Given the description of an element on the screen output the (x, y) to click on. 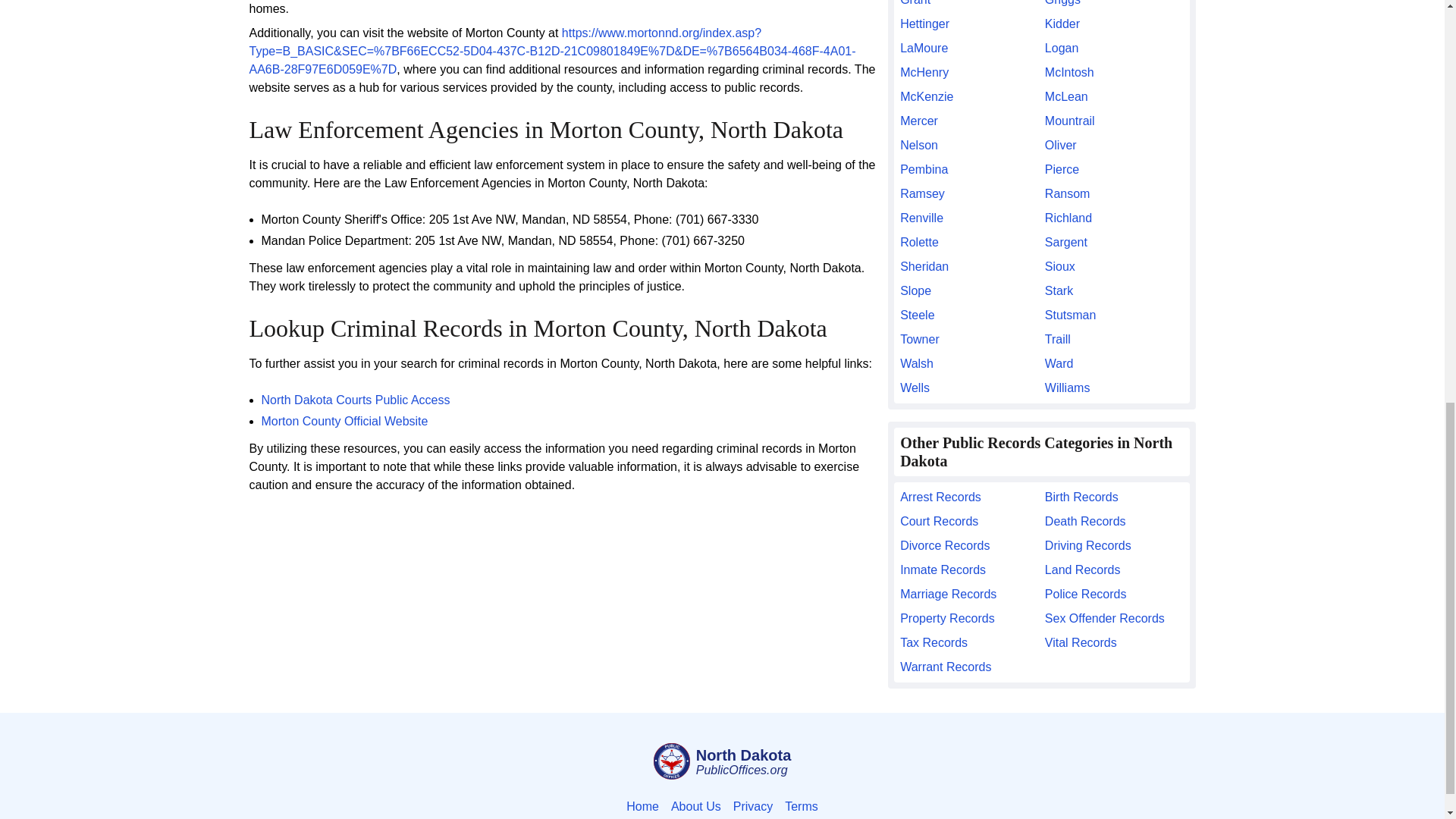
Grant (969, 4)
LaMoure (969, 48)
Morton County Official Website (344, 420)
Kidder (1114, 24)
Griggs (1114, 4)
North Dakota Courts Public Access (354, 399)
Hettinger (969, 24)
